Given the description of an element on the screen output the (x, y) to click on. 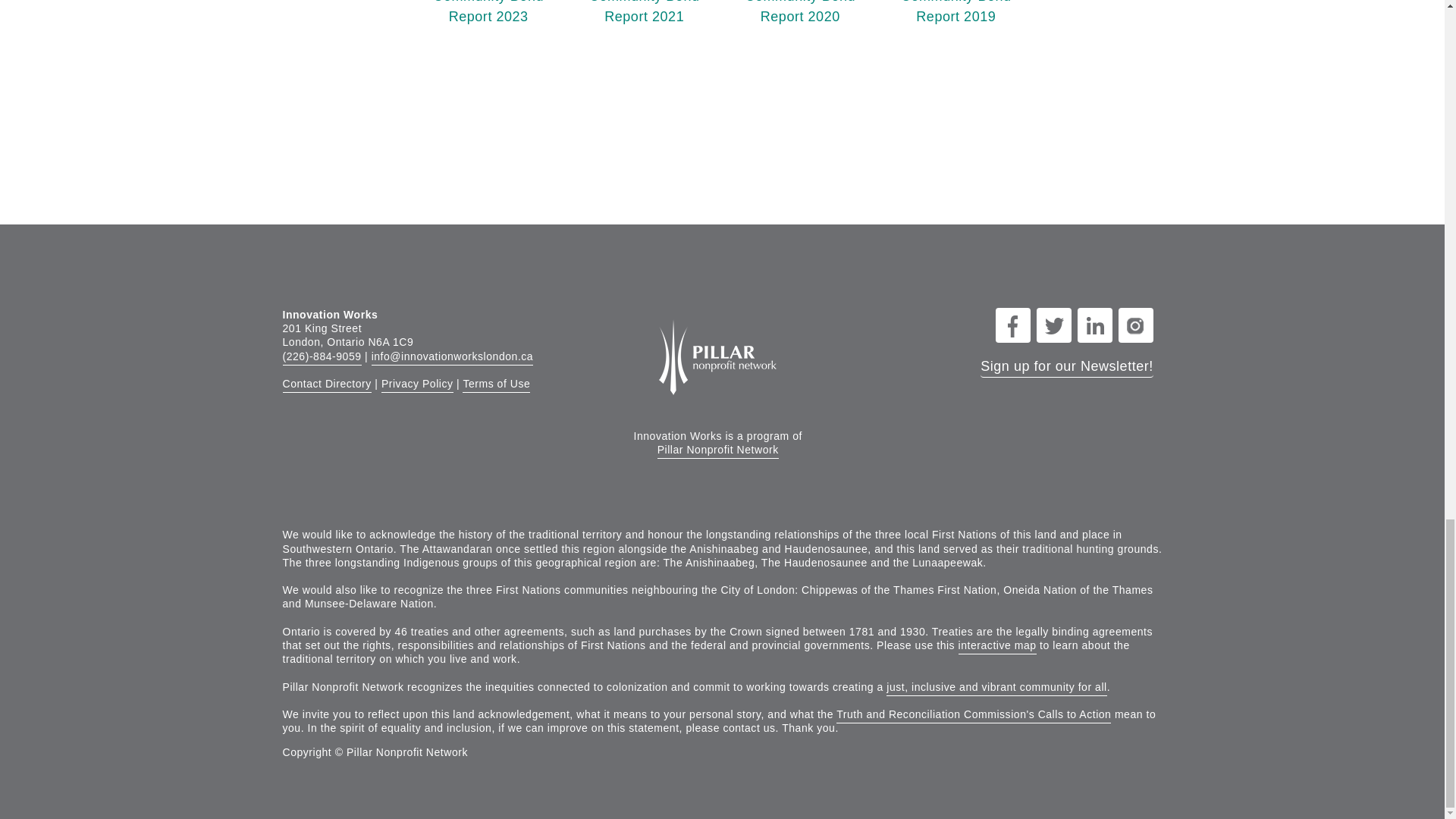
Privacy Policy (800, 12)
Contact Directory (416, 385)
Terms of Use (326, 385)
